Given the description of an element on the screen output the (x, y) to click on. 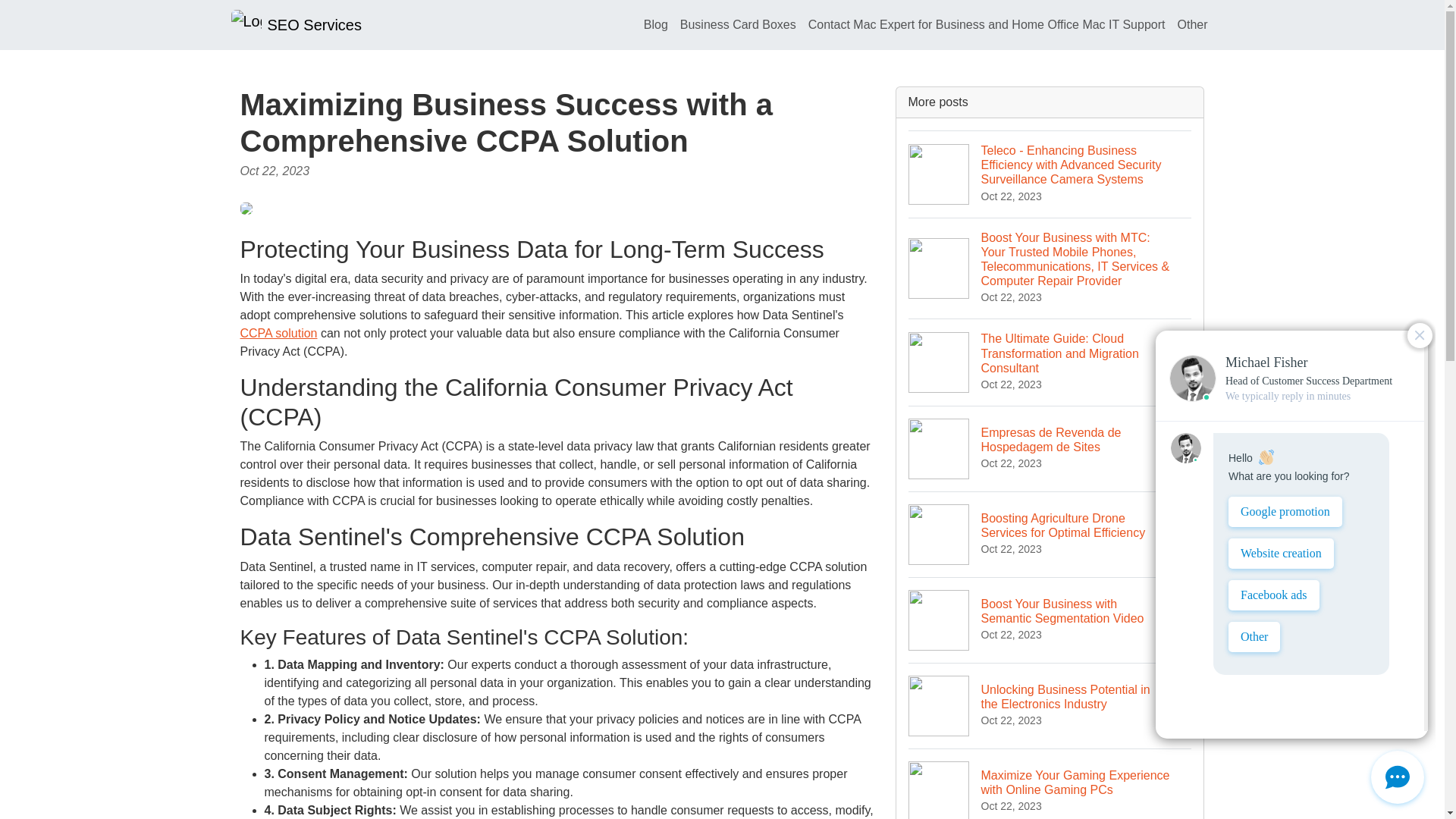
CCPA solution (1050, 448)
Other (278, 332)
Business Card Boxes (1191, 24)
Blog (738, 24)
SEO Services (655, 24)
